Given the description of an element on the screen output the (x, y) to click on. 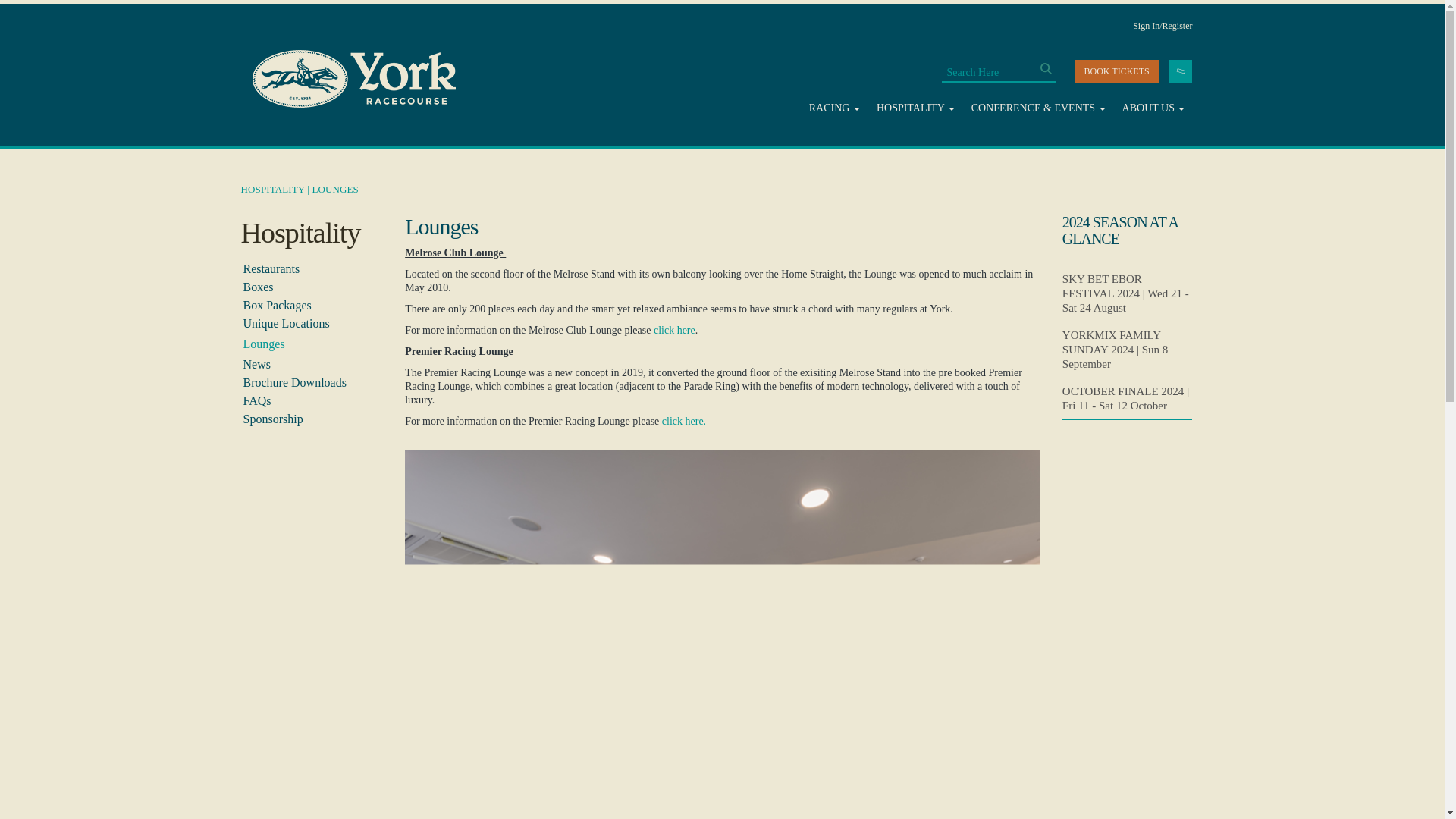
HOSPITALITY (915, 107)
York Racecourse (352, 79)
Search (1046, 68)
RACING (834, 107)
BOOK TICKETS (1116, 70)
